Given the description of an element on the screen output the (x, y) to click on. 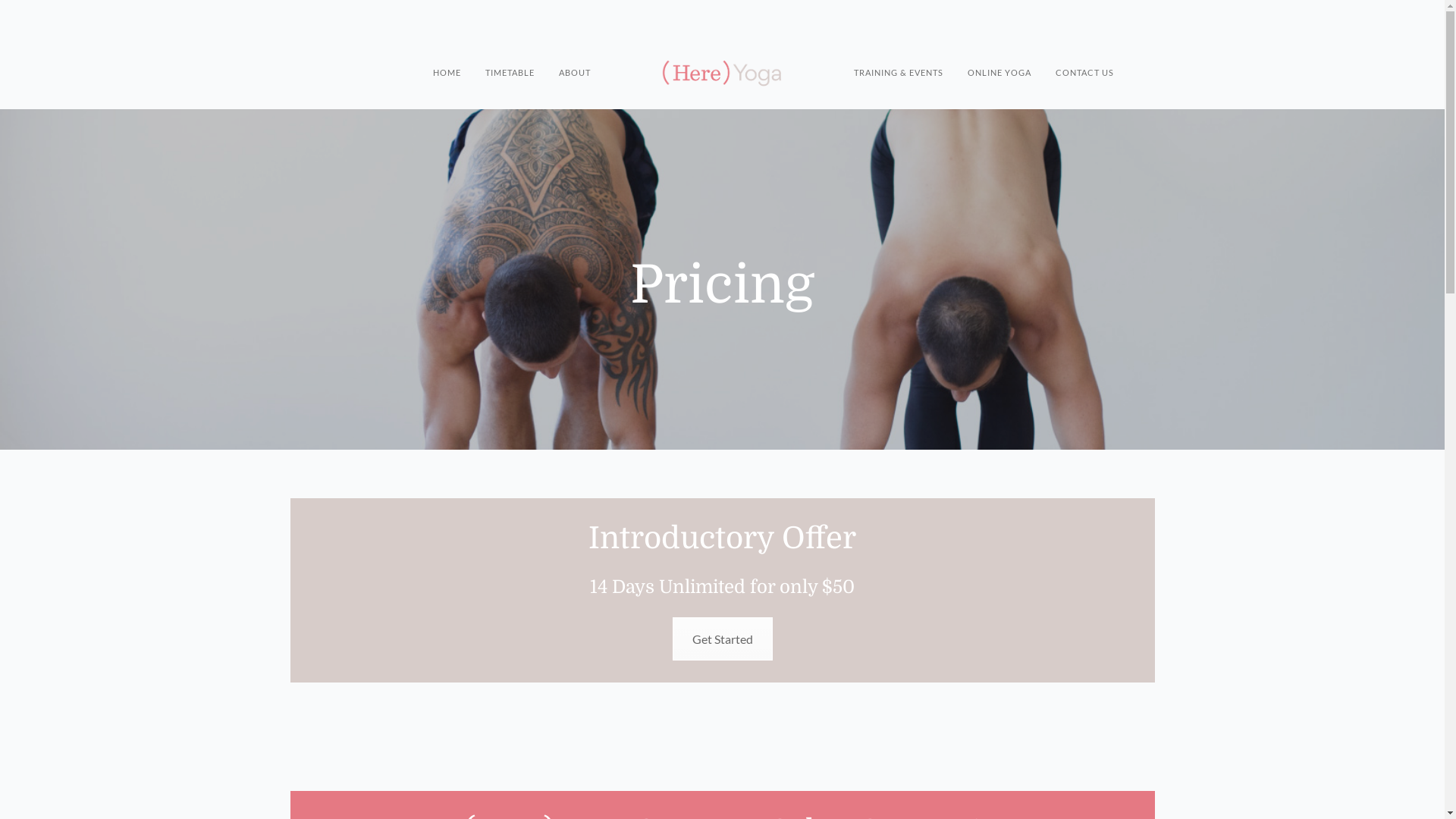
TIMETABLE Element type: text (509, 57)
ONLINE YOGA Element type: text (999, 57)
TRAINING & EVENTS Element type: text (898, 57)
CONTACT US Element type: text (1084, 57)
Get Started Element type: text (721, 638)
HOME Element type: text (447, 57)
ABOUT Element type: text (574, 57)
